Given the description of an element on the screen output the (x, y) to click on. 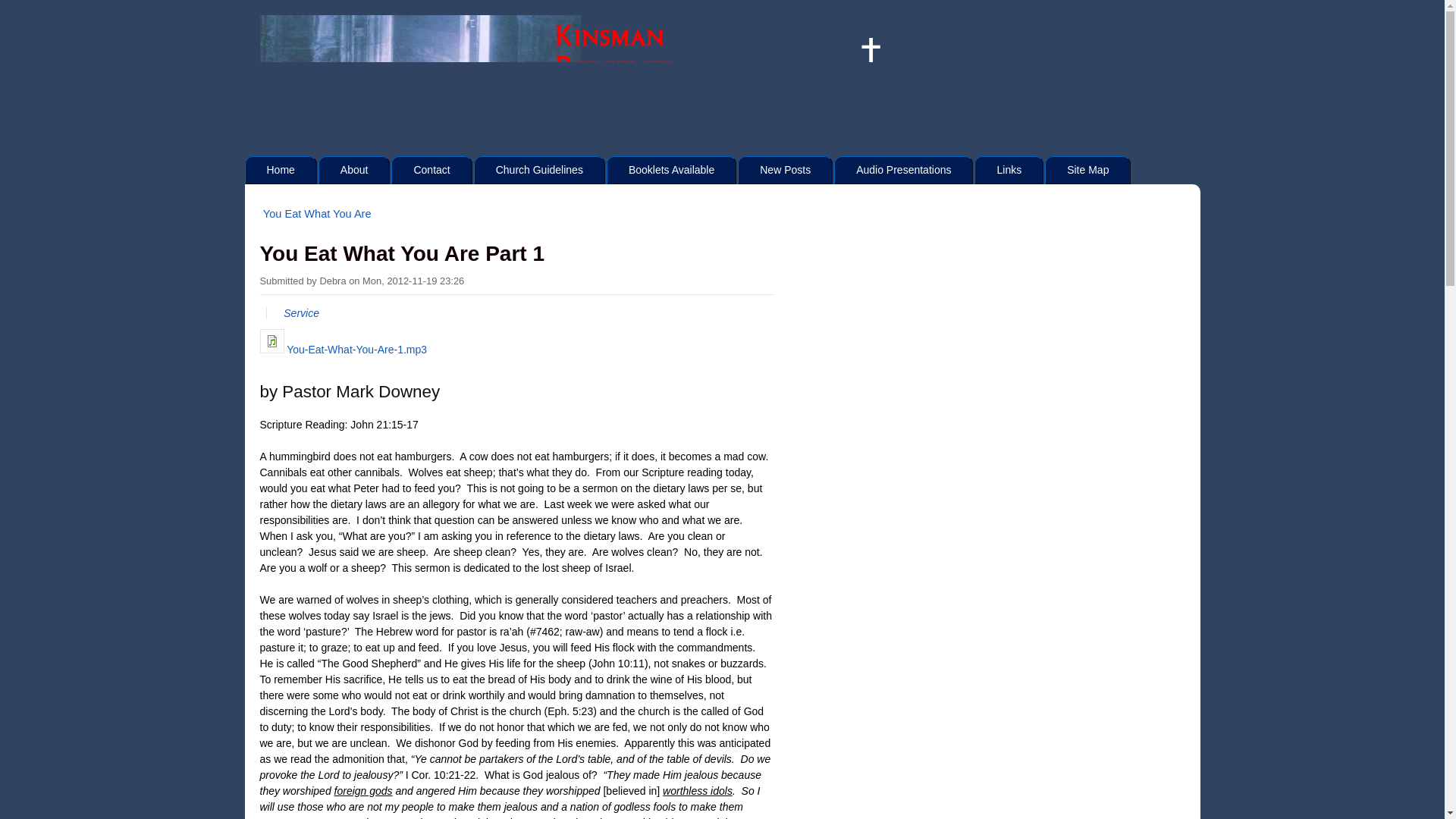
New Posts (785, 170)
Contact (431, 170)
Home (279, 170)
You Eat What You Are (317, 213)
Site Map (1088, 170)
Church Guidelines (539, 170)
About (354, 170)
Links (1008, 170)
Booklets Available (671, 170)
